Given the description of an element on the screen output the (x, y) to click on. 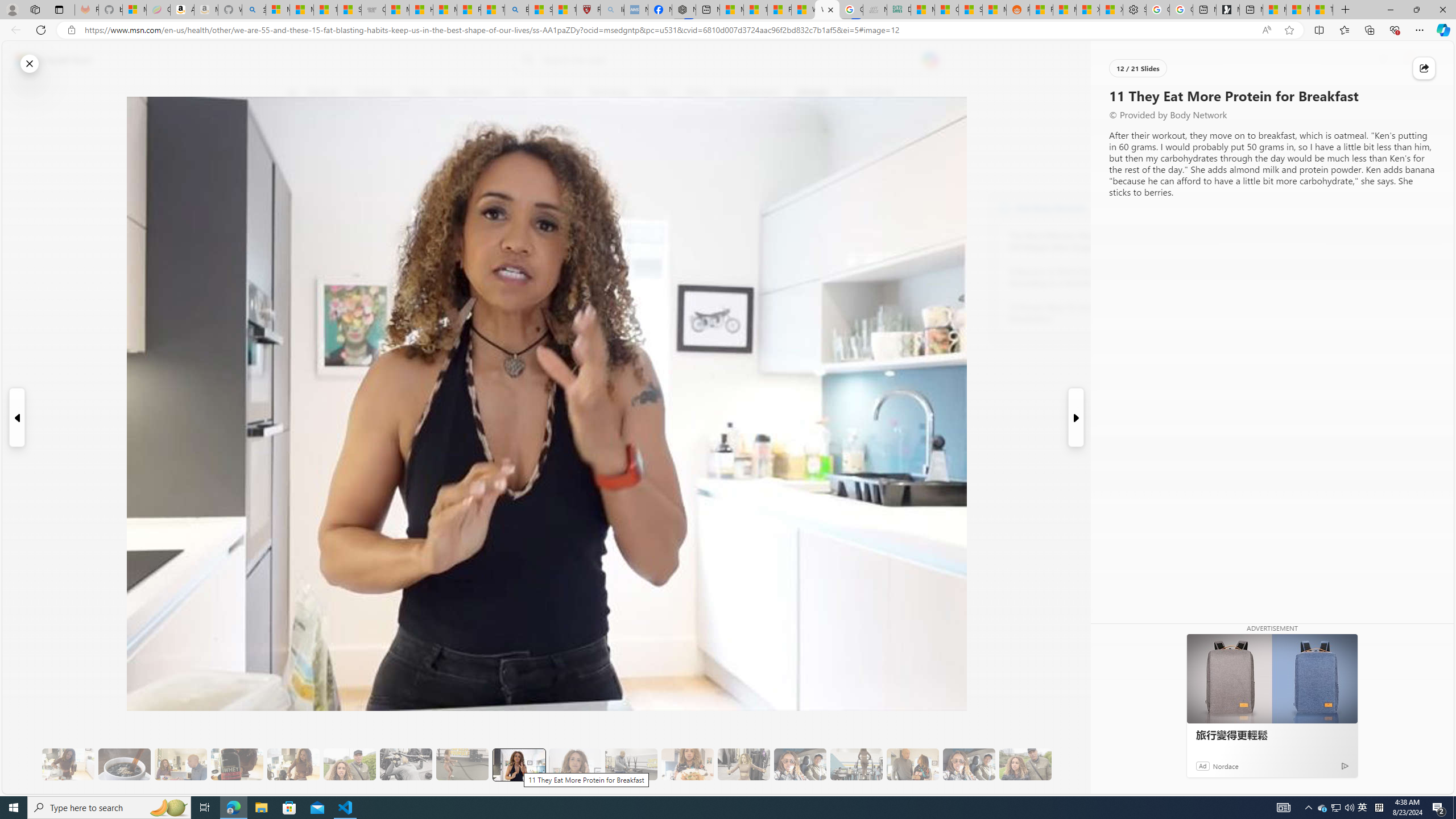
Combat Siege (373, 9)
8 Be Mindful of Coffee (124, 764)
Local (517, 92)
15 They Also Indulge in a Low-Calorie Sweet Treat (743, 764)
Technology (609, 92)
World News (468, 92)
These 3 Stocks Pay You More Than 5% to Own Them (1321, 9)
